Given the description of an element on the screen output the (x, y) to click on. 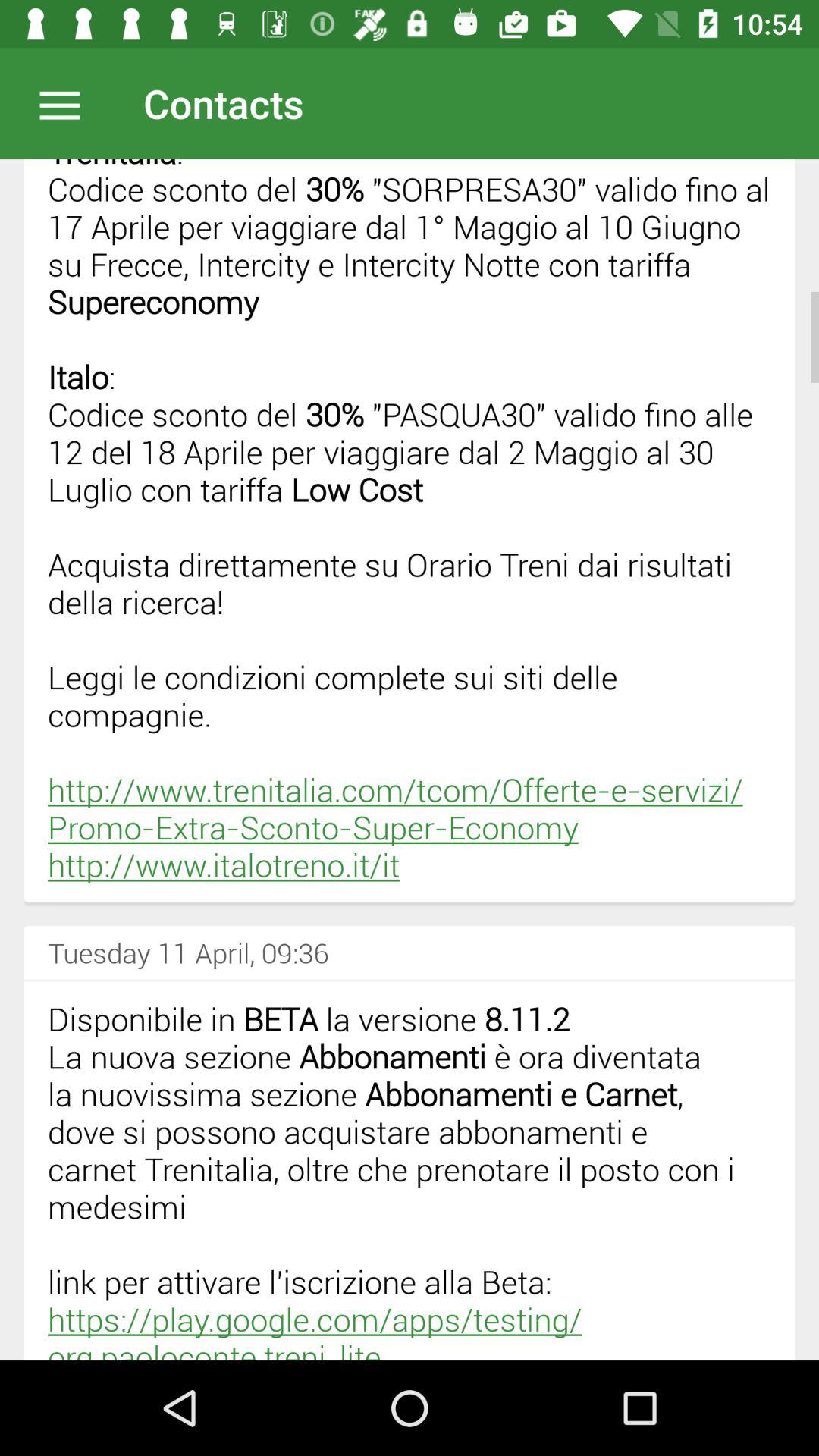
open menu (67, 103)
